Given the description of an element on the screen output the (x, y) to click on. 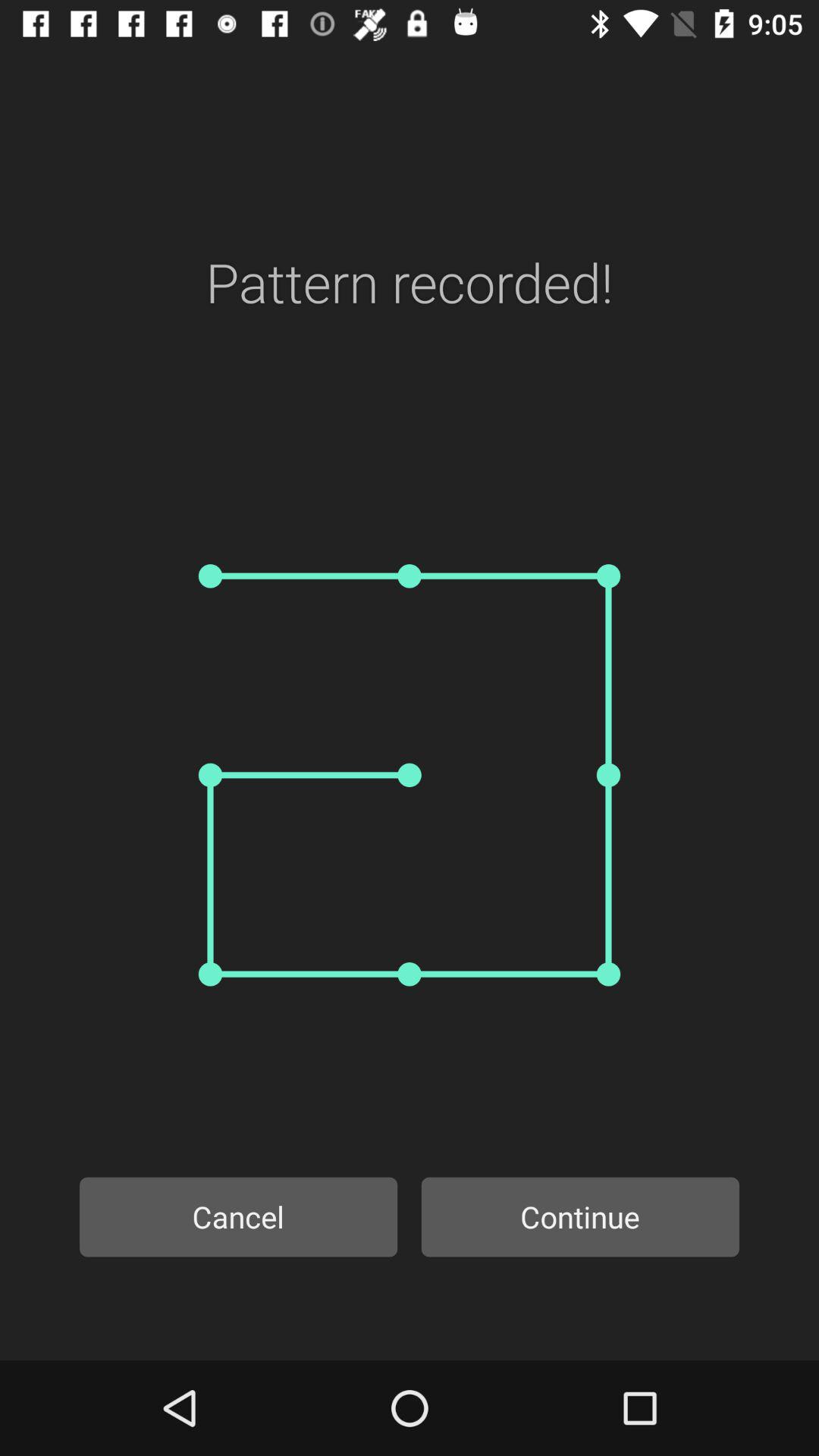
select item above the cancel (409, 774)
